Given the description of an element on the screen output the (x, y) to click on. 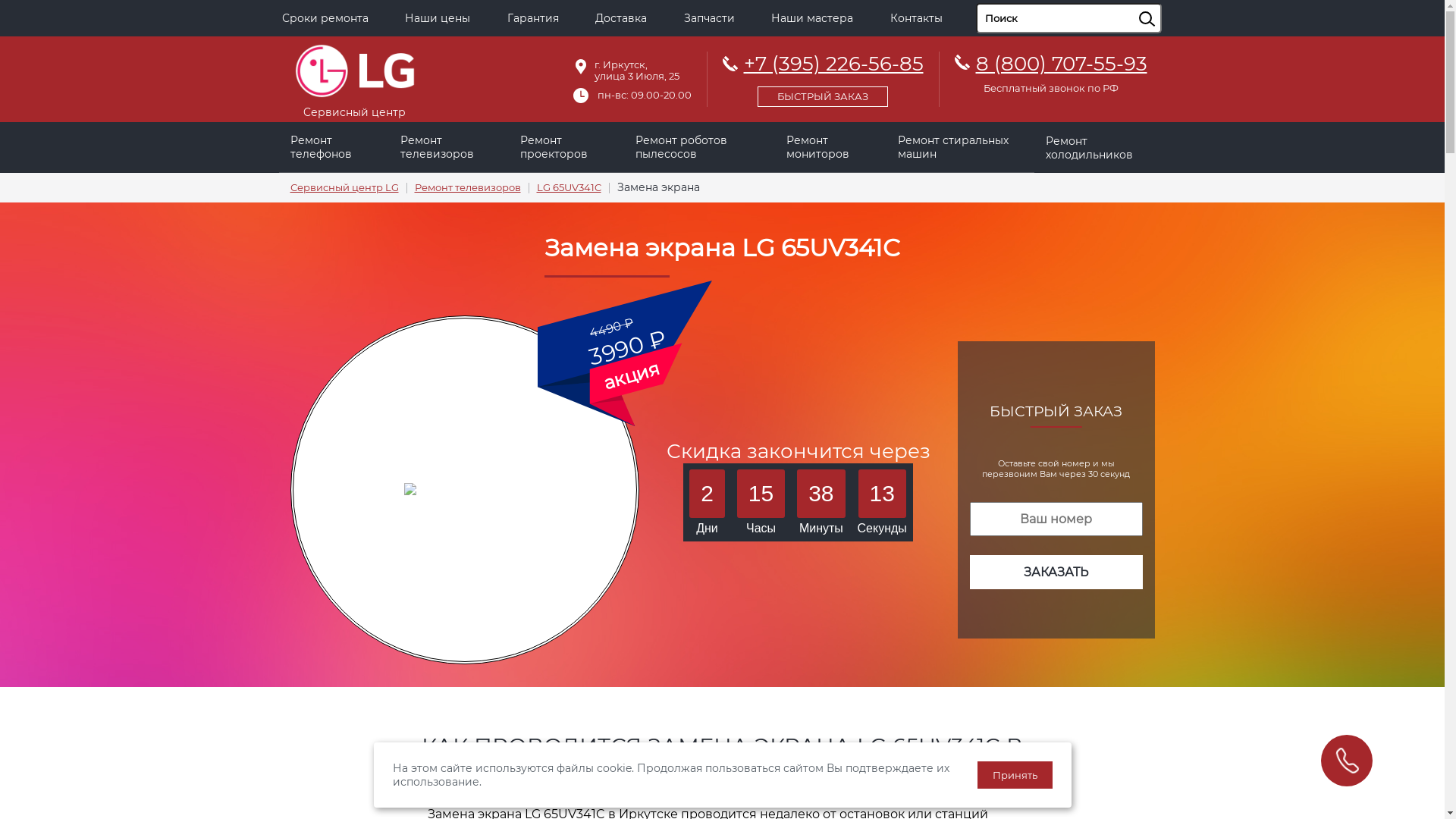
sisea.search Element type: text (1165, 3)
+7 (395) 226-56-85 Element type: text (821, 77)
8 (800) 707-55-93 Element type: text (1060, 63)
LG 65UV341C Element type: text (568, 187)
